Given the description of an element on the screen output the (x, y) to click on. 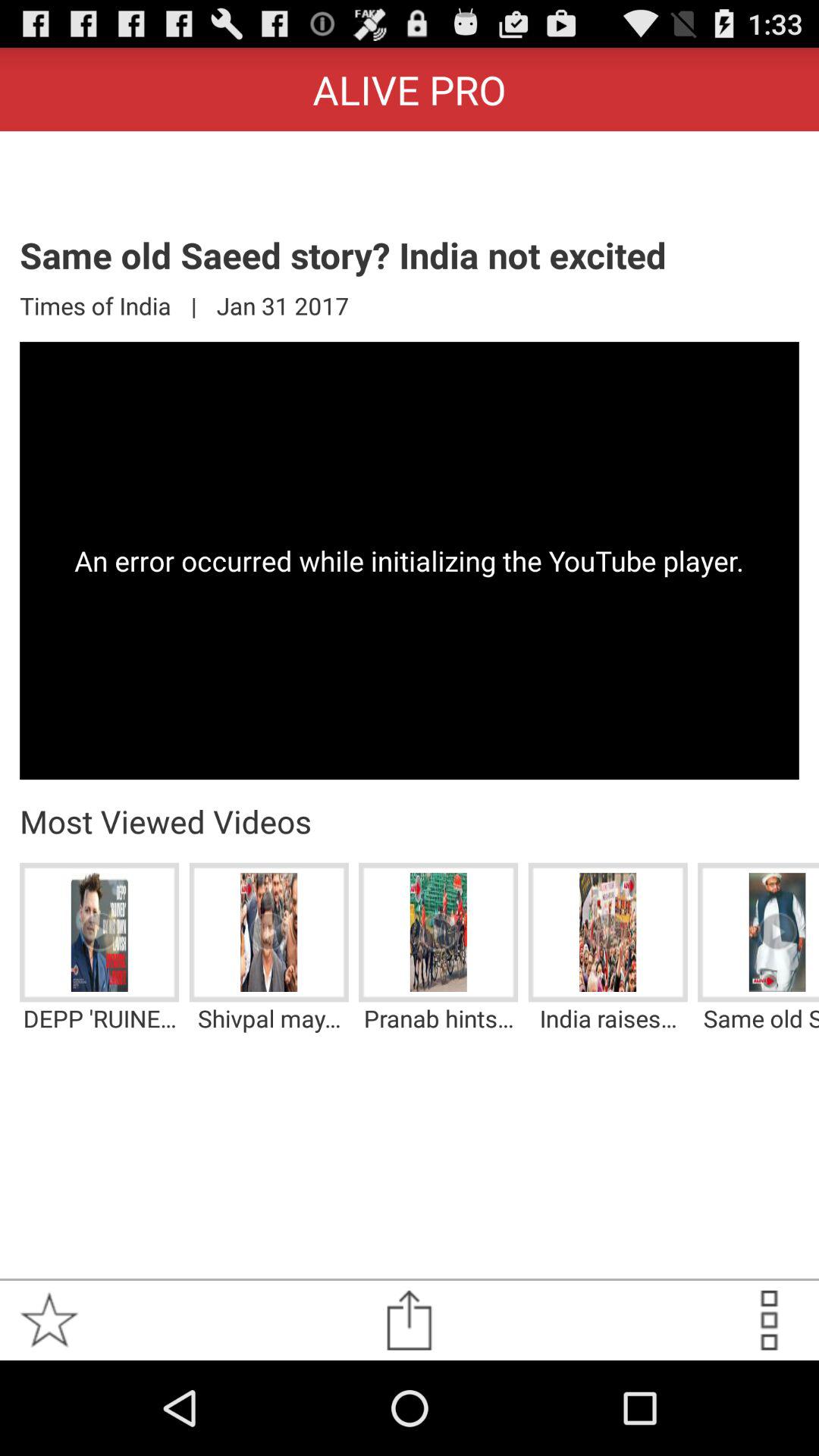
more options (769, 1320)
